Given the description of an element on the screen output the (x, y) to click on. 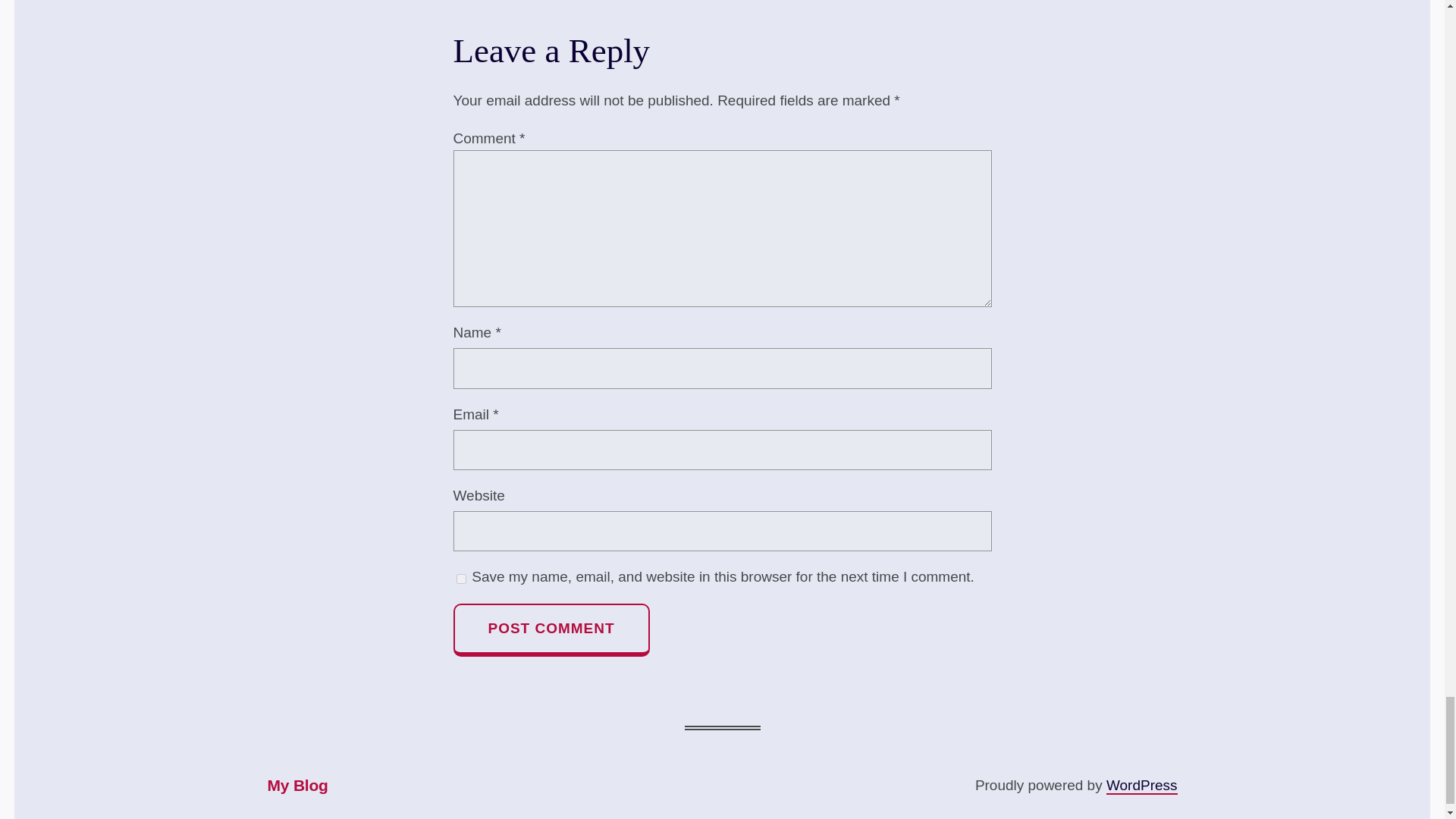
Post Comment (550, 629)
My Blog (296, 785)
Post Comment (550, 629)
WordPress (1141, 785)
